Given the description of an element on the screen output the (x, y) to click on. 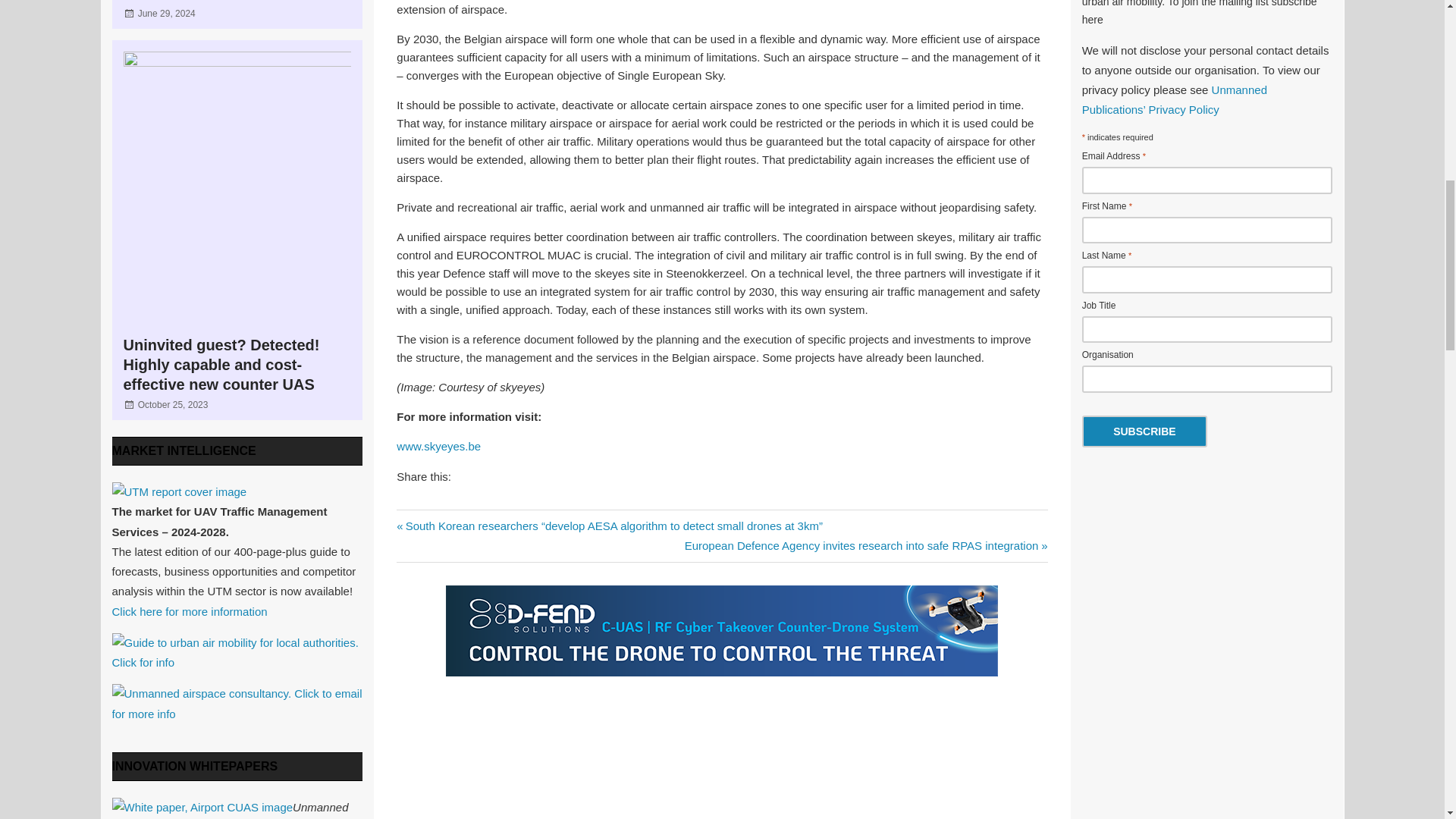
June 29, 2024 (166, 13)
11:31 am (166, 13)
Click here for more information (189, 611)
Subscribe (1144, 431)
www.skyeyes.be (438, 445)
October 25, 2023 (173, 404)
9:33 am (173, 404)
